Given the description of an element on the screen output the (x, y) to click on. 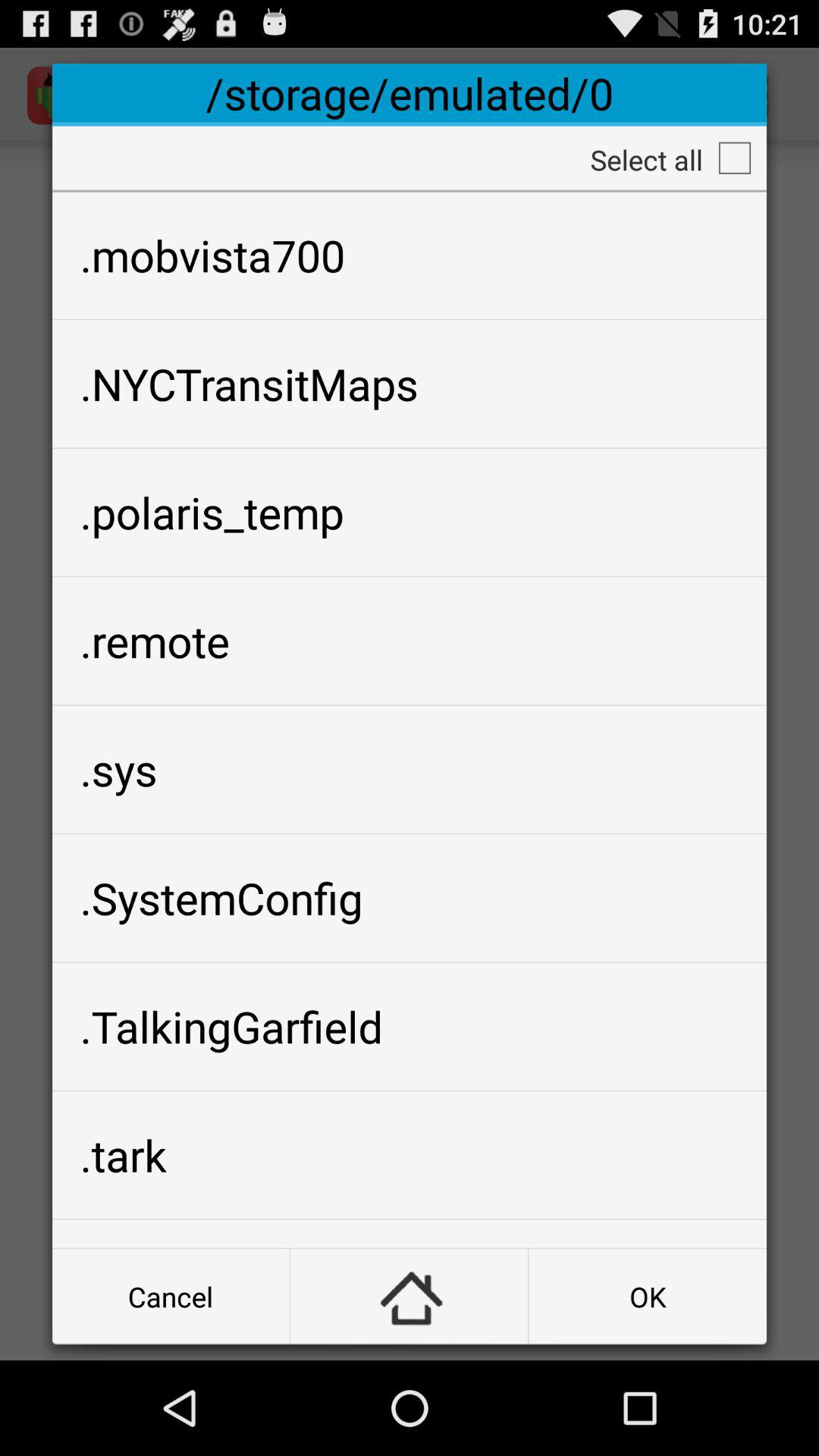
jump until ok icon (647, 1296)
